Given the description of an element on the screen output the (x, y) to click on. 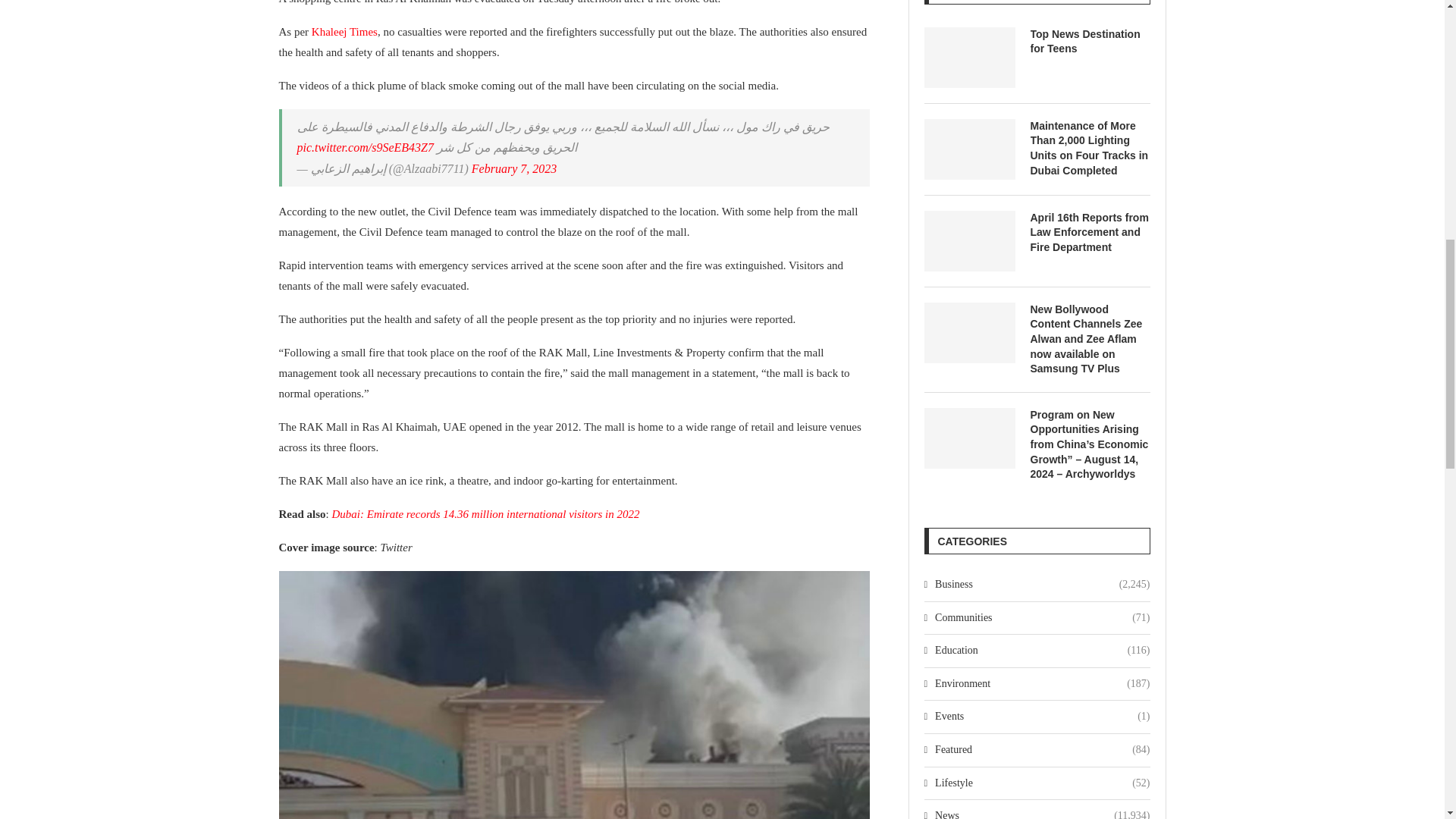
Top News Destination for Teens (968, 57)
April 16th Reports from Law Enforcement and Fire Department (968, 240)
Top News Destination for Teens (1089, 41)
April 16th Reports from Law Enforcement and Fire Department (1089, 232)
